Given the description of an element on the screen output the (x, y) to click on. 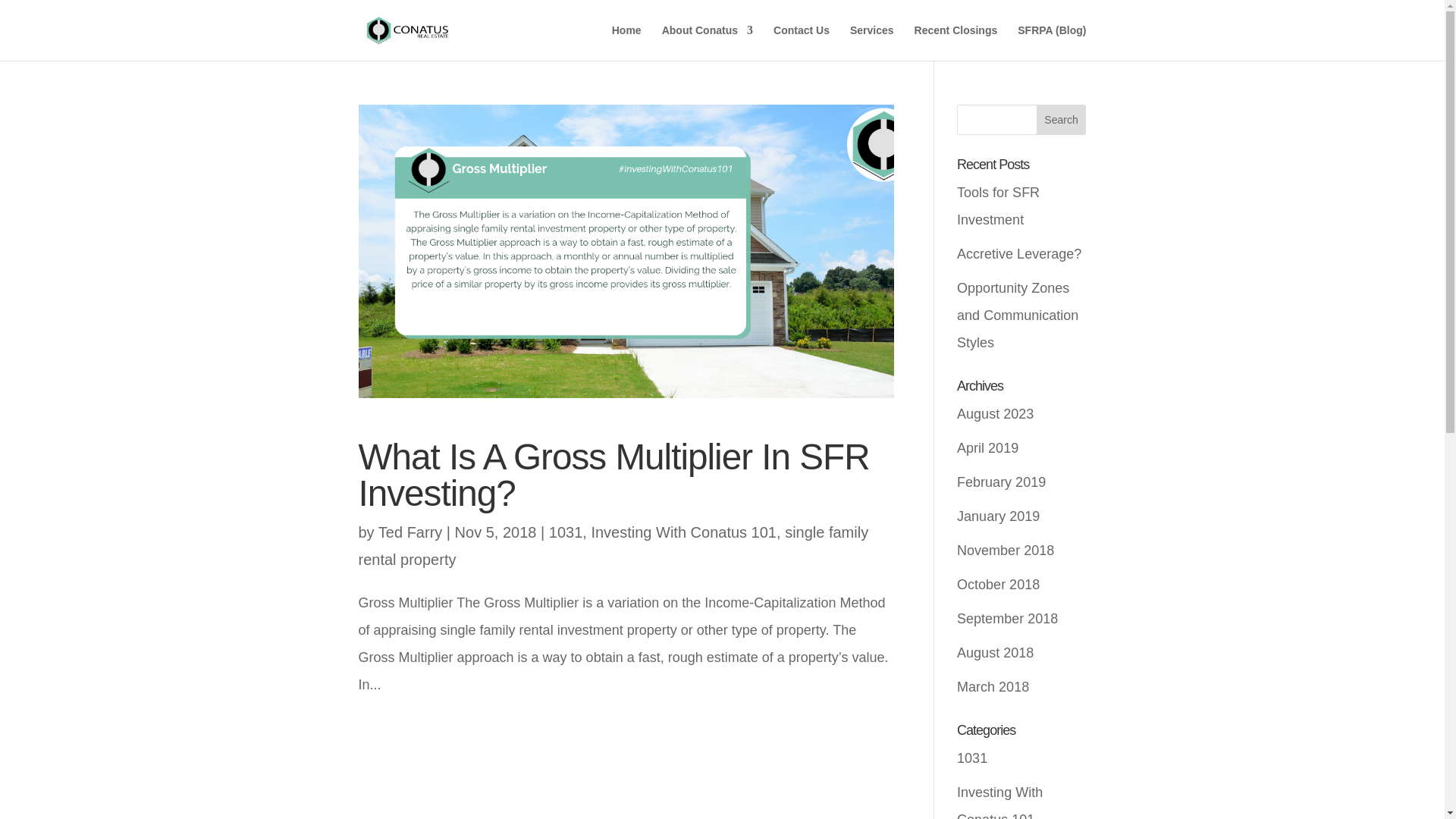
March 2018 (992, 686)
Investing With Conatus 101 (683, 532)
Opportunity Zones and Communication Styles (1017, 315)
single family rental property (612, 546)
August 2023 (994, 413)
Contact Us (801, 42)
Services (871, 42)
Tools for SFR Investment (997, 206)
October 2018 (997, 584)
January 2019 (997, 516)
